Given the description of an element on the screen output the (x, y) to click on. 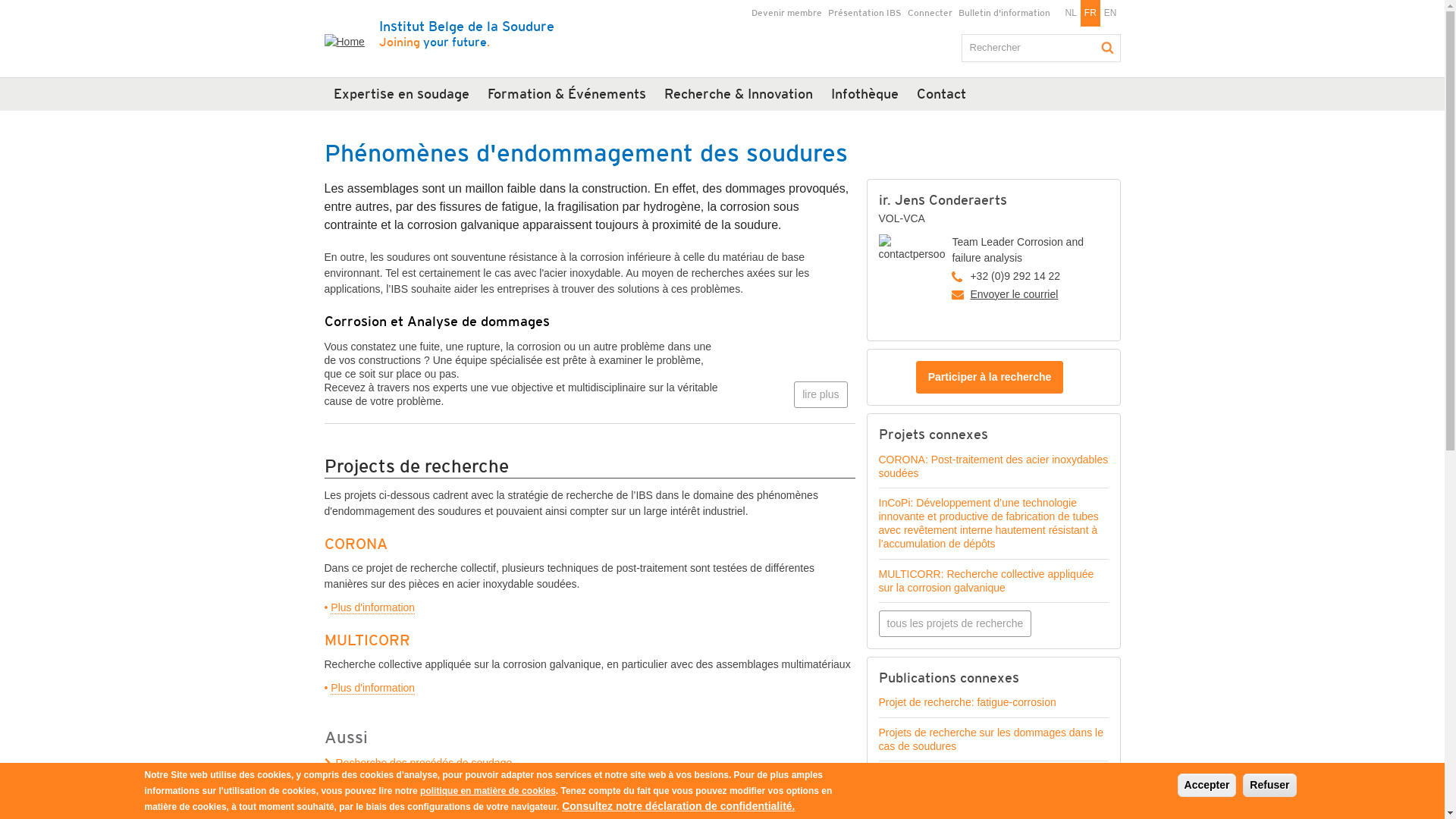
Contact Element type: text (940, 93)
lire plus Element type: text (820, 394)
Bulletin d'information Element type: text (1004, 13)
Refuser Element type: text (1268, 785)
Rechercher Element type: text (1107, 47)
Devenir membre Element type: text (786, 13)
Plus d'information Element type: text (372, 687)
Envoyer le courriel Element type: text (1013, 294)
Accepter Element type: text (1206, 785)
Corrosion et Analyse de dommages Element type: text (436, 321)
Connecter Element type: text (929, 13)
Projet de recherche: fatigue-corrosion Element type: text (966, 702)
tous les projets de recherche Element type: text (954, 623)
Expertise en soudage Element type: text (401, 93)
Home Element type: hover (350, 34)
Institut Belge de la Soudure
Joining your future. Element type: text (466, 33)
NL Element type: text (1069, 13)
FR Element type: text (1090, 13)
Recherche & Innovation Element type: text (738, 93)
EN Element type: text (1110, 13)
Plus d'information Element type: text (372, 607)
Fabrication additive arc-fil (WAAM) Element type: text (589, 802)
